Given the description of an element on the screen output the (x, y) to click on. 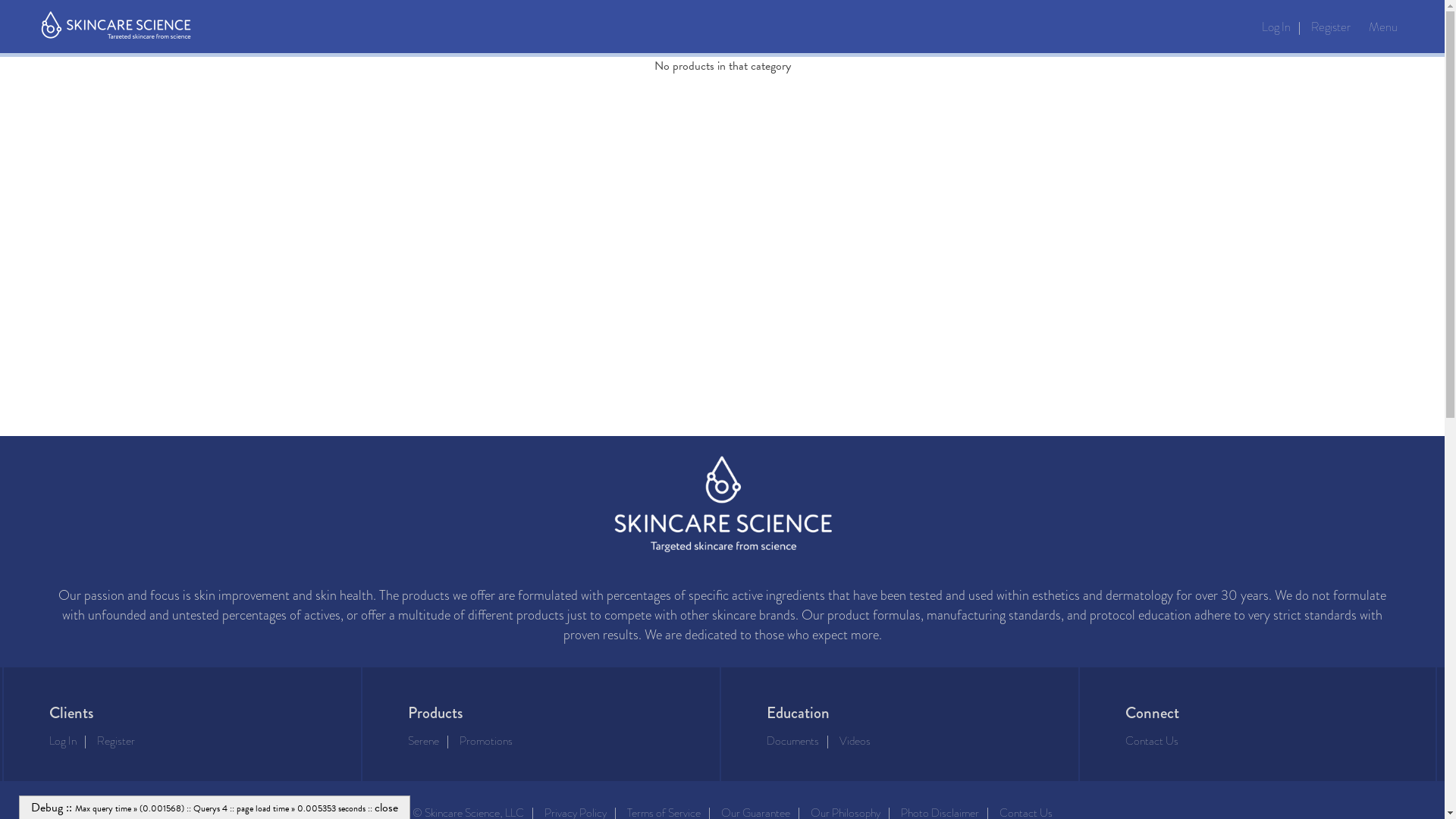
Register Element type: text (115, 740)
Promotions Element type: text (485, 740)
Videos Element type: text (853, 740)
Register Element type: text (1329, 26)
Log In Element type: text (1275, 26)
Serene Element type: text (423, 740)
Log In Element type: text (61, 740)
Contact Us Element type: text (1151, 740)
Documents Element type: text (791, 740)
